Given the description of an element on the screen output the (x, y) to click on. 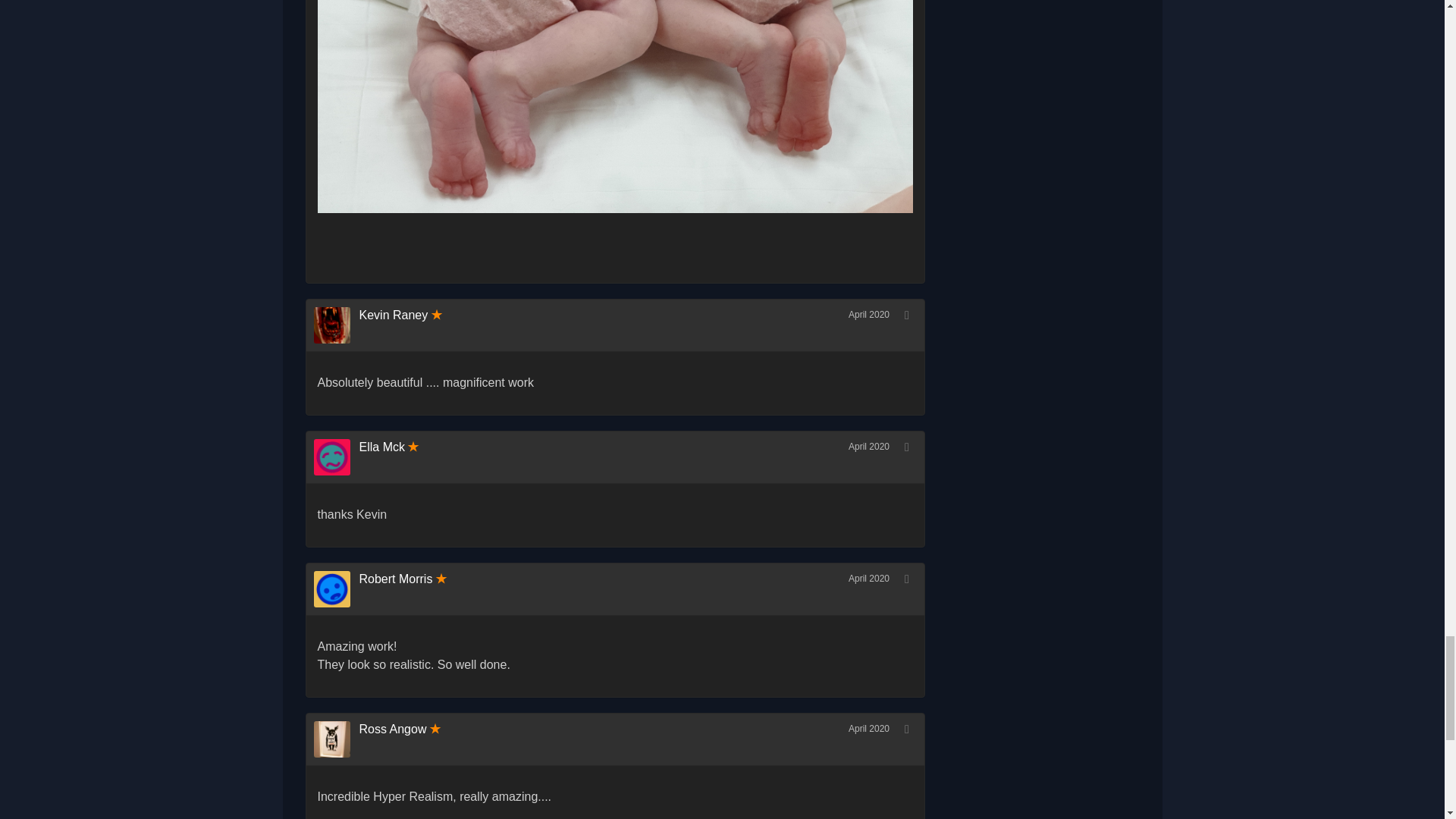
Ella Mck (381, 446)
April 2020 (868, 578)
Robert Morris (395, 578)
April 26, 2020 5:41PM (868, 314)
April 2020 (868, 728)
April 27, 2020 2:09PM (868, 446)
Kevin Raney (393, 314)
April 2020 (868, 314)
Kevin Raney (336, 325)
Ross Angow (392, 728)
April 2020 (868, 446)
Ella Mck (336, 456)
